Given the description of an element on the screen output the (x, y) to click on. 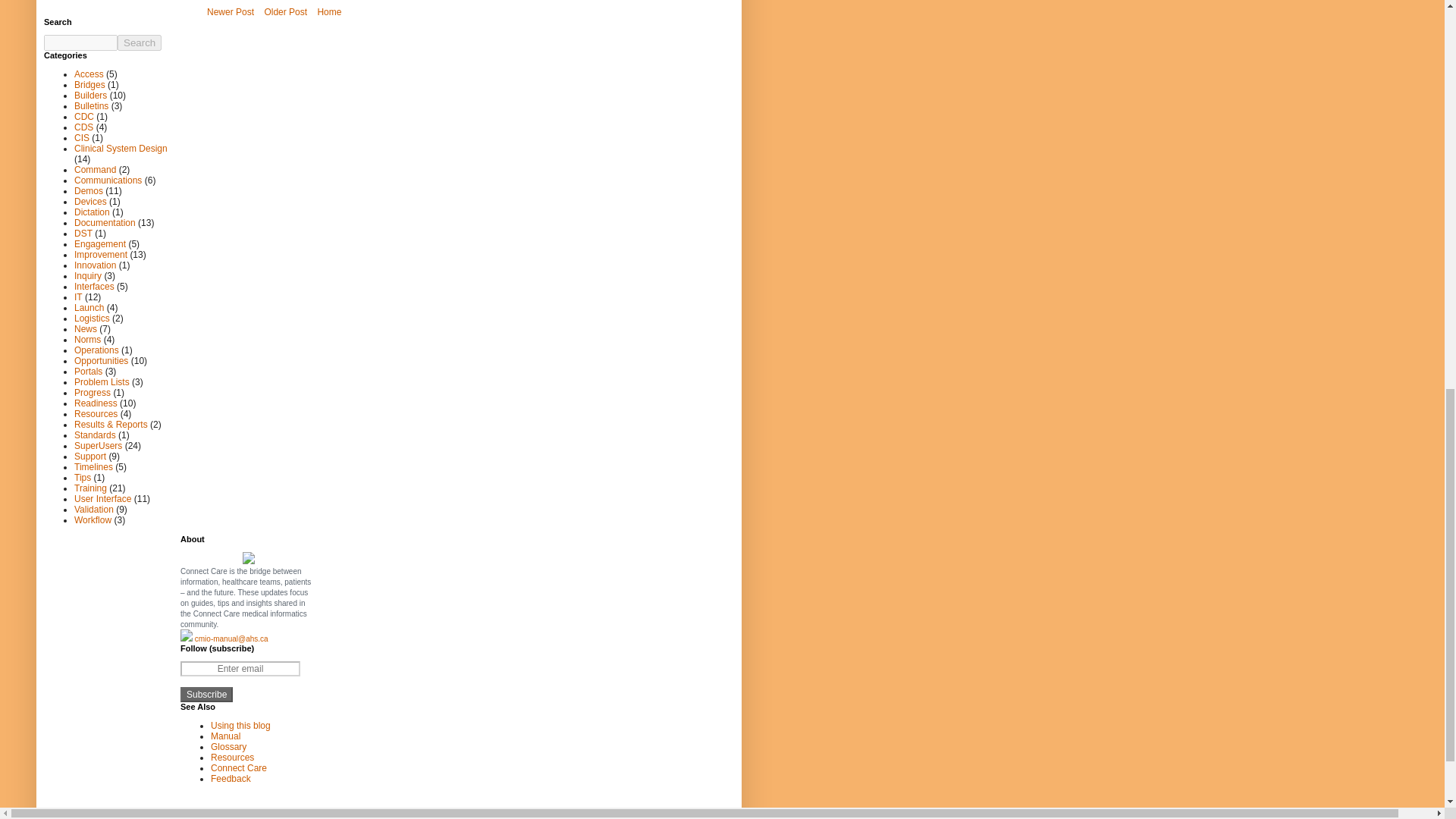
CIS (81, 136)
Improvement (101, 253)
Search (139, 42)
search (80, 42)
Clinical System Design (120, 147)
CDS (83, 126)
Bulletins (90, 104)
CDC (84, 115)
Communications (107, 179)
Newer Post (230, 12)
